Given the description of an element on the screen output the (x, y) to click on. 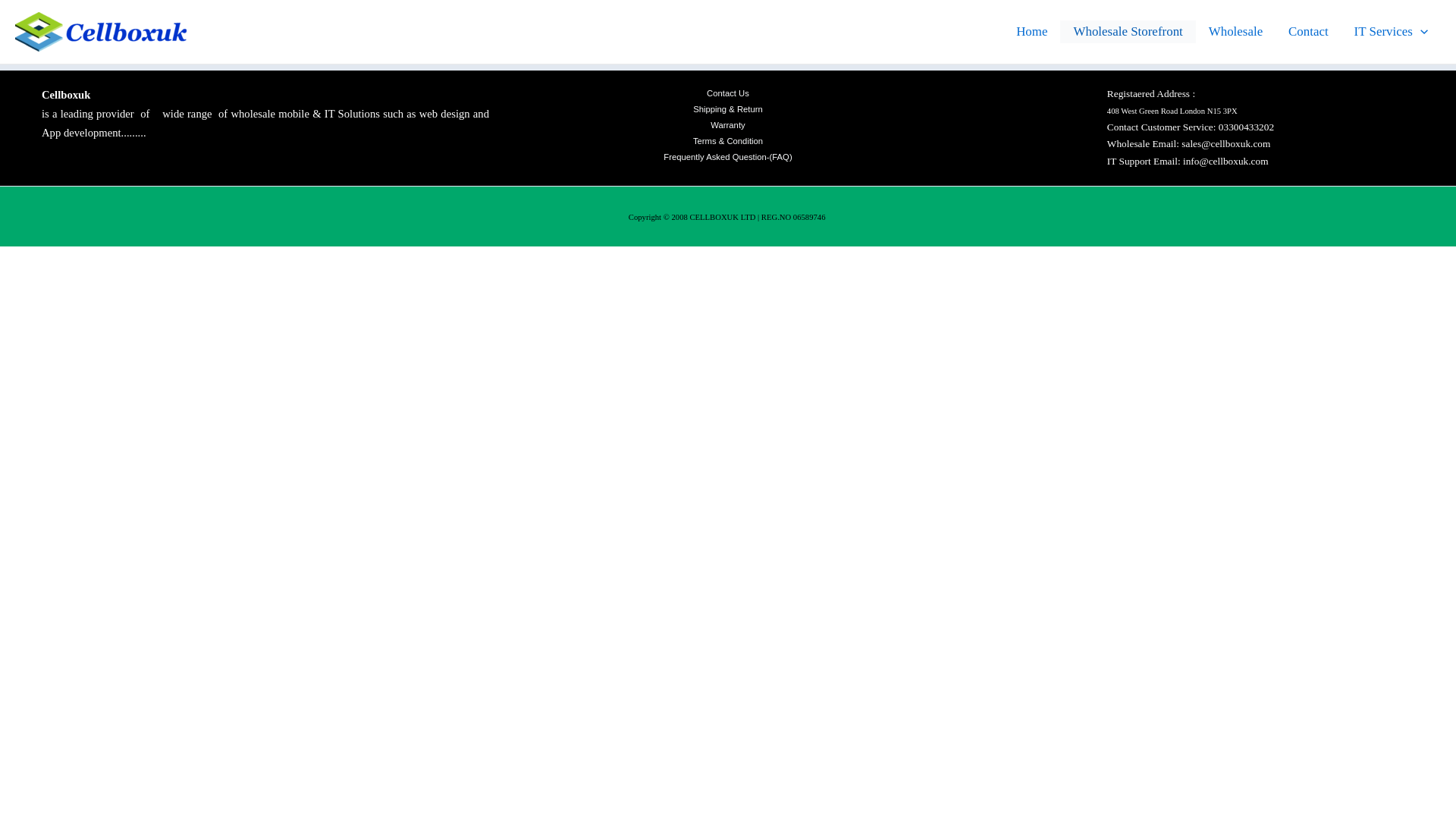
Wholesale Storefront (1127, 31)
IT Services (1390, 31)
Wholesale (1235, 31)
Home (1031, 31)
Contact (1307, 31)
